Given the description of an element on the screen output the (x, y) to click on. 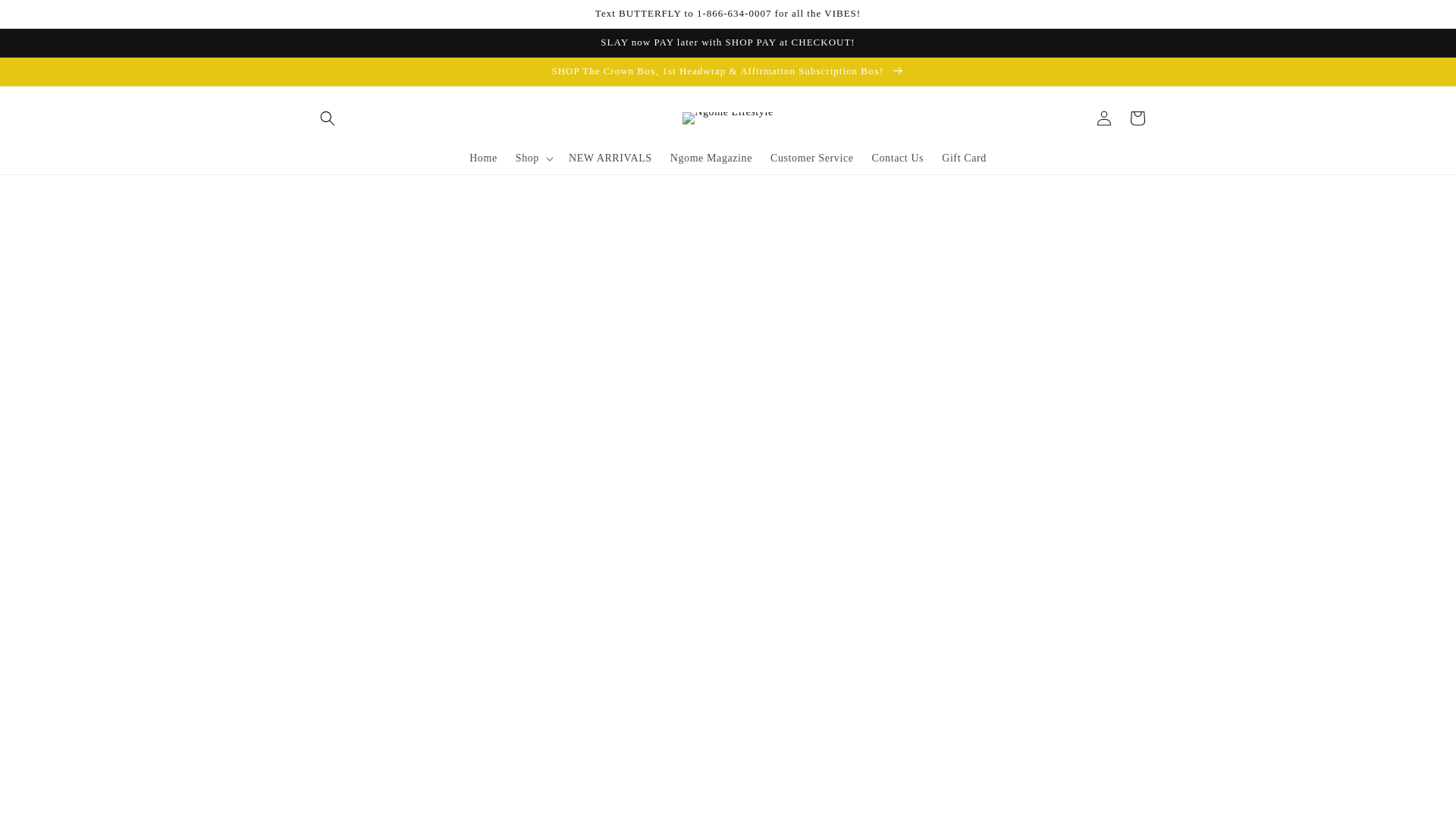
Skip to content (45, 17)
Home (483, 158)
